Given the description of an element on the screen output the (x, y) to click on. 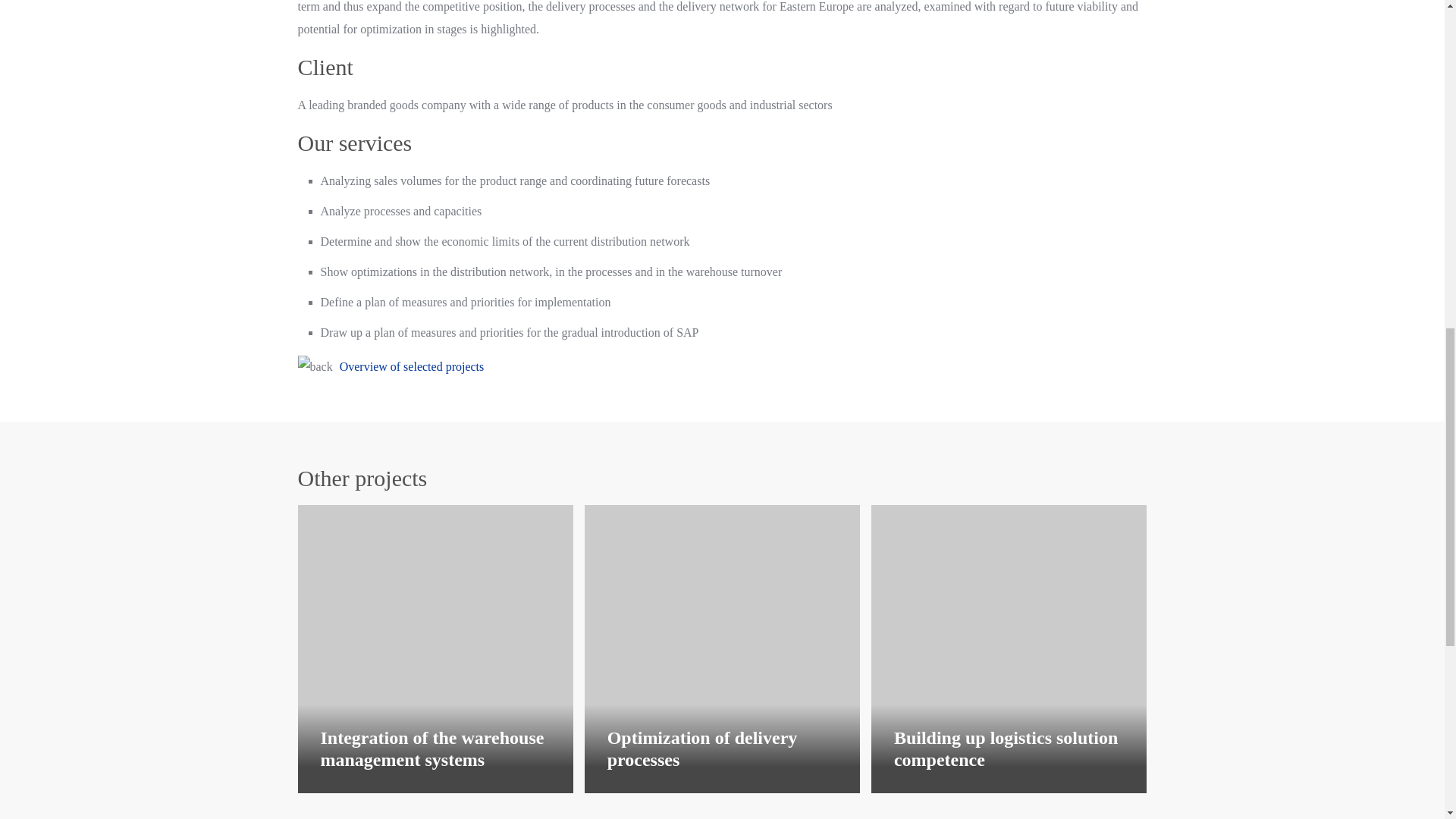
Optimization of delivery processes (717, 645)
chosen projects (411, 366)
Building up logistics solution competence (1005, 748)
Building up logistics solution competence (1003, 645)
Integration of the warehouse management systems (431, 748)
Optimization of delivery processes (702, 748)
Overview of selected projects (411, 366)
Integration of the warehouse management systems (431, 645)
Integration of the warehouse management systems (431, 748)
